Given the description of an element on the screen output the (x, y) to click on. 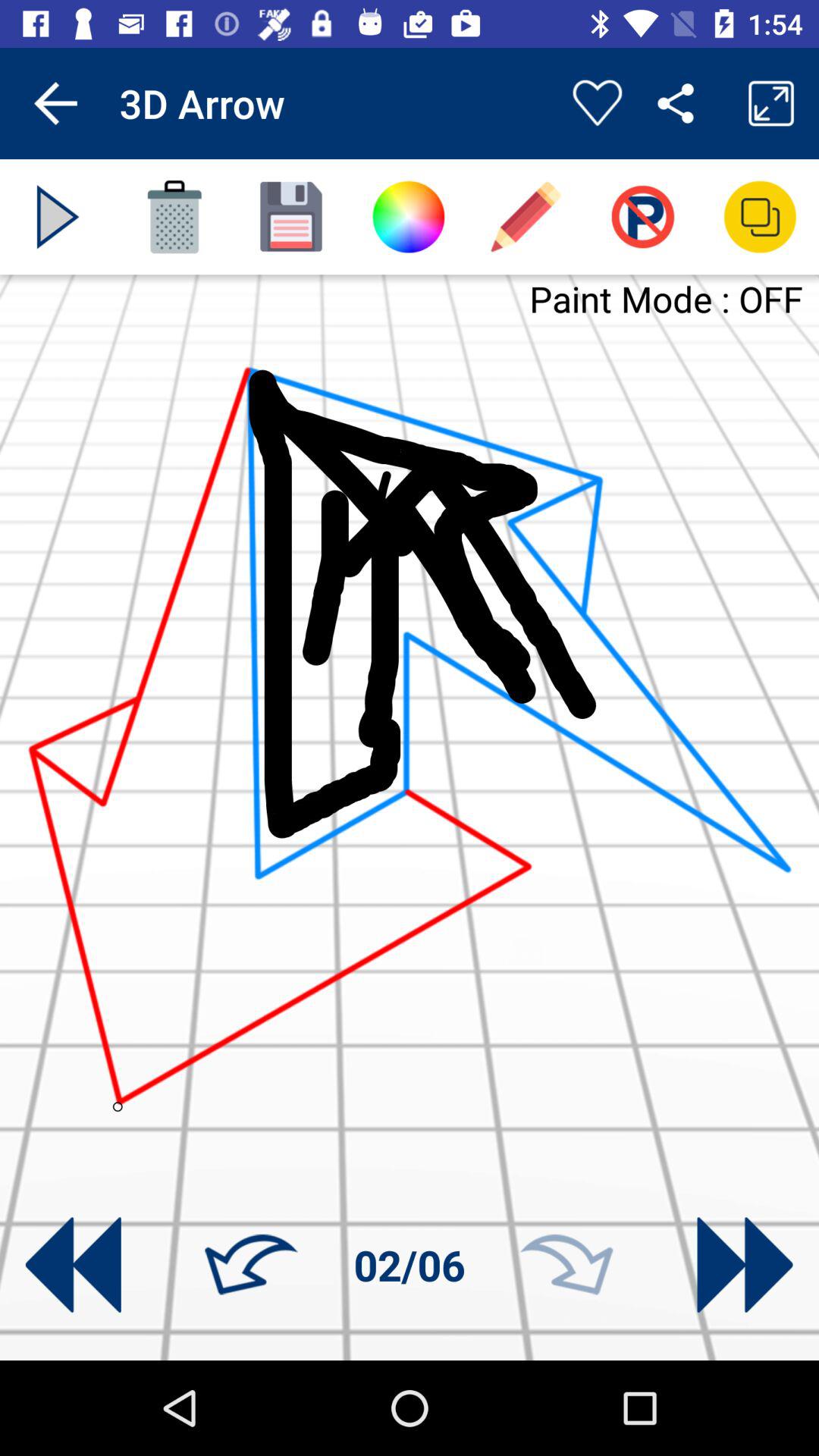
move forward (566, 1264)
